Given the description of an element on the screen output the (x, y) to click on. 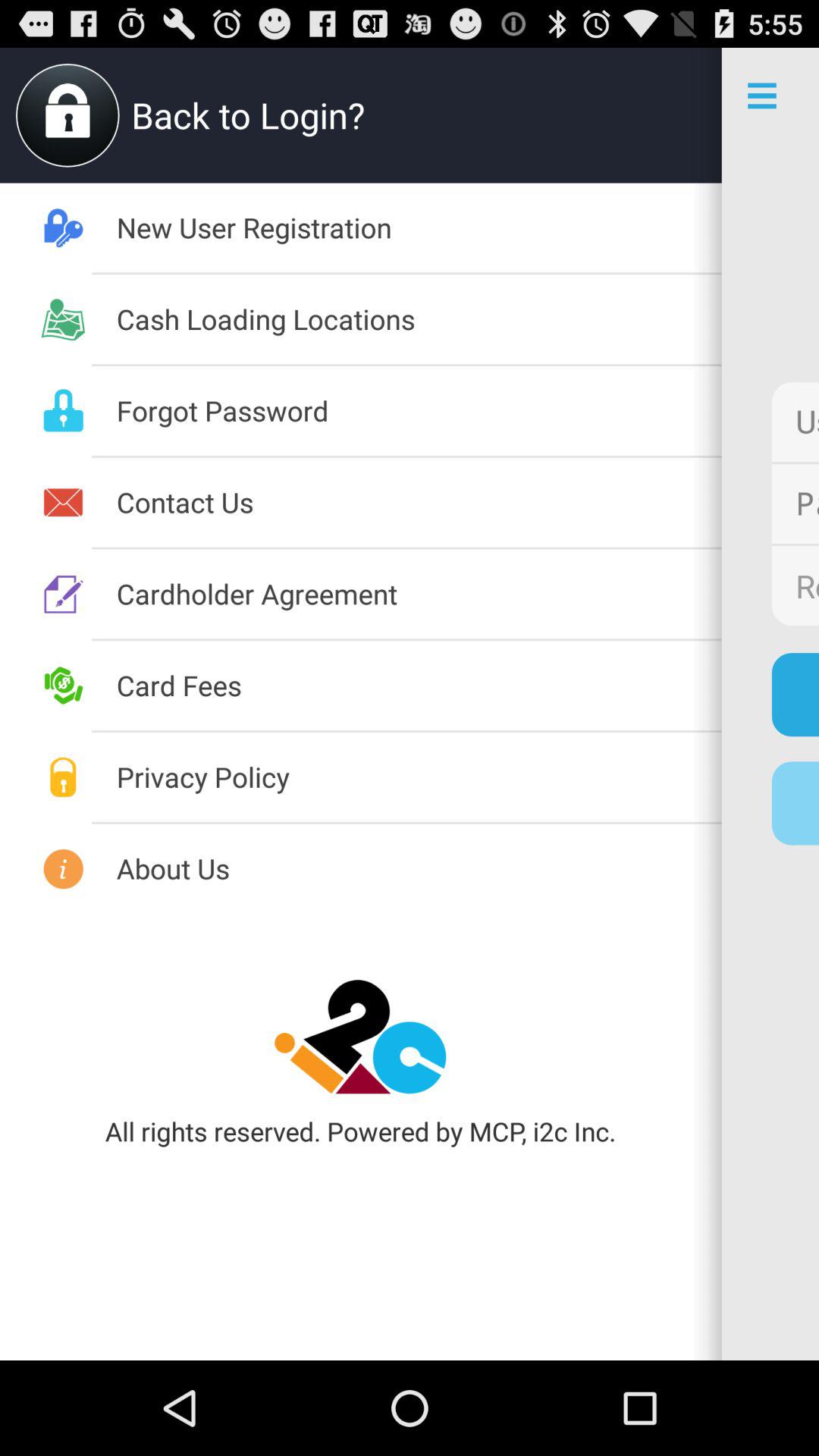
select the contact us icon (418, 501)
